Given the description of an element on the screen output the (x, y) to click on. 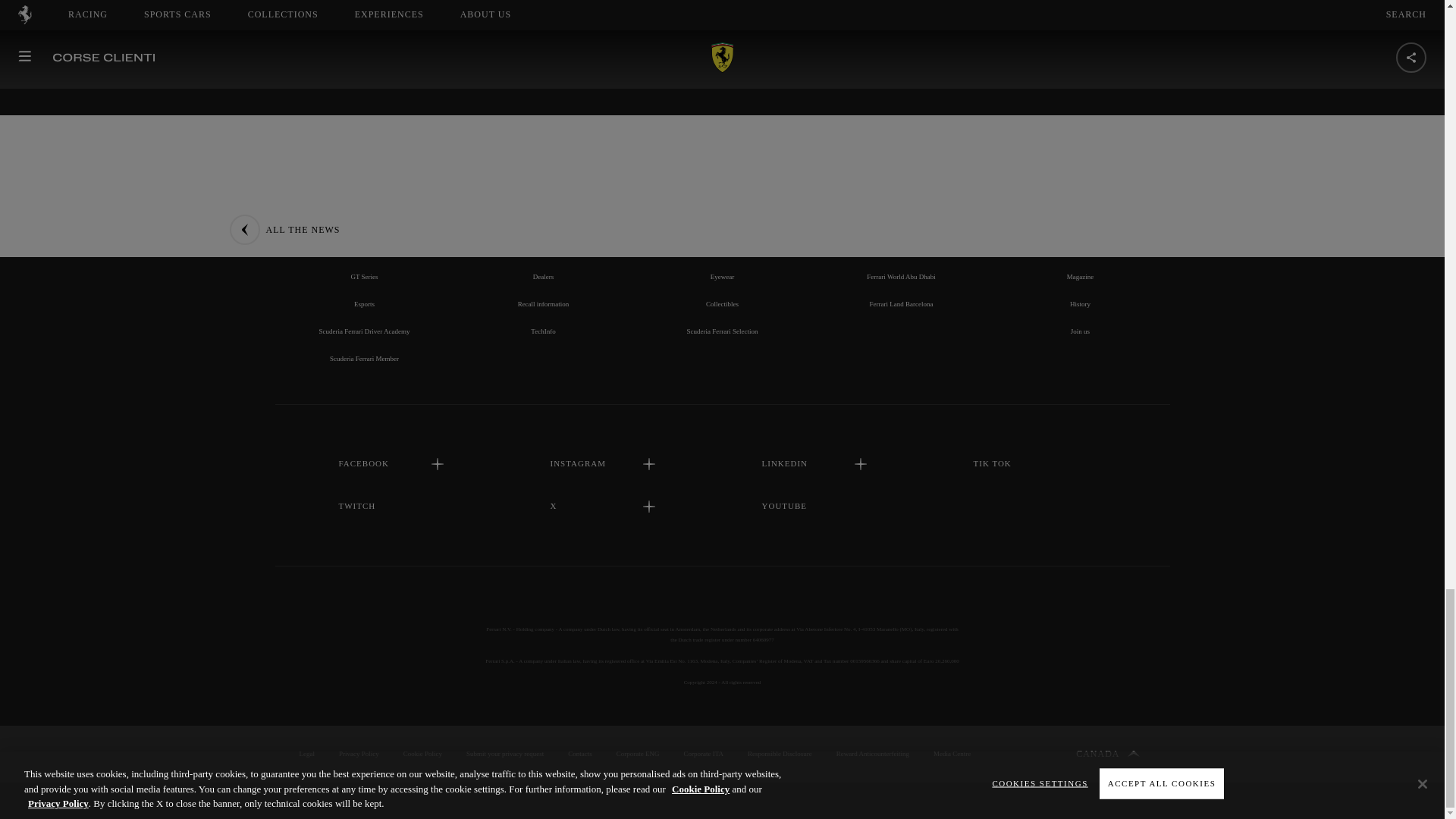
Dealers (542, 276)
TechInfo (542, 330)
Configure your Ferrari (543, 194)
SUBSCRIBE (721, 7)
Hypercar (364, 249)
Scuderia Ferrari HP (363, 167)
MyFerrari (543, 222)
Pre-owned (542, 249)
Charles Leclerc (363, 194)
GT Series (363, 276)
